Given the description of an element on the screen output the (x, y) to click on. 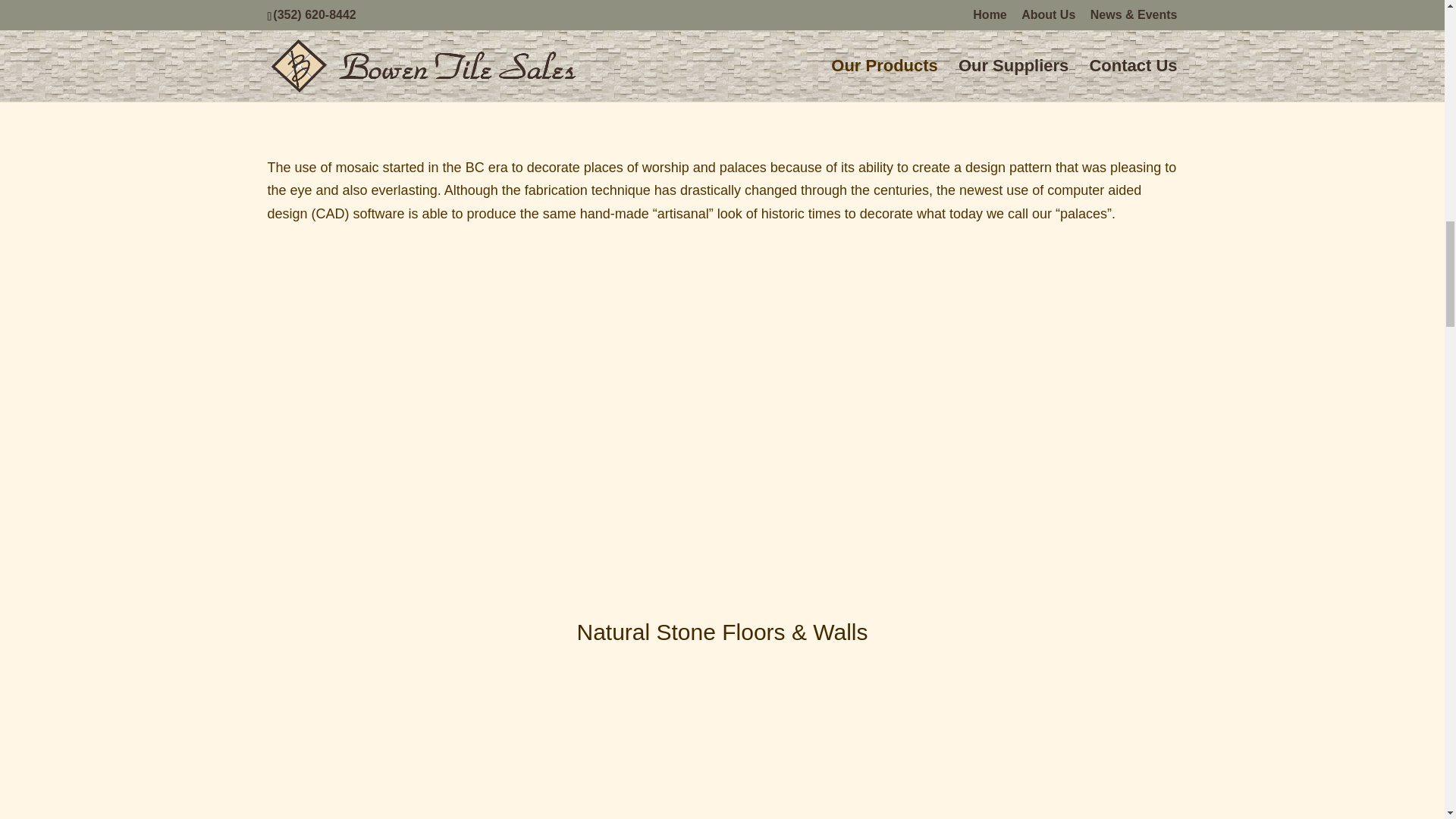
4B9A4444-3-1600 (838, 381)
4B9A4412-1600 (370, 381)
4B9A4425-2-1067H (1074, 381)
4B9A4410-2-1067H (605, 381)
